Given the description of an element on the screen output the (x, y) to click on. 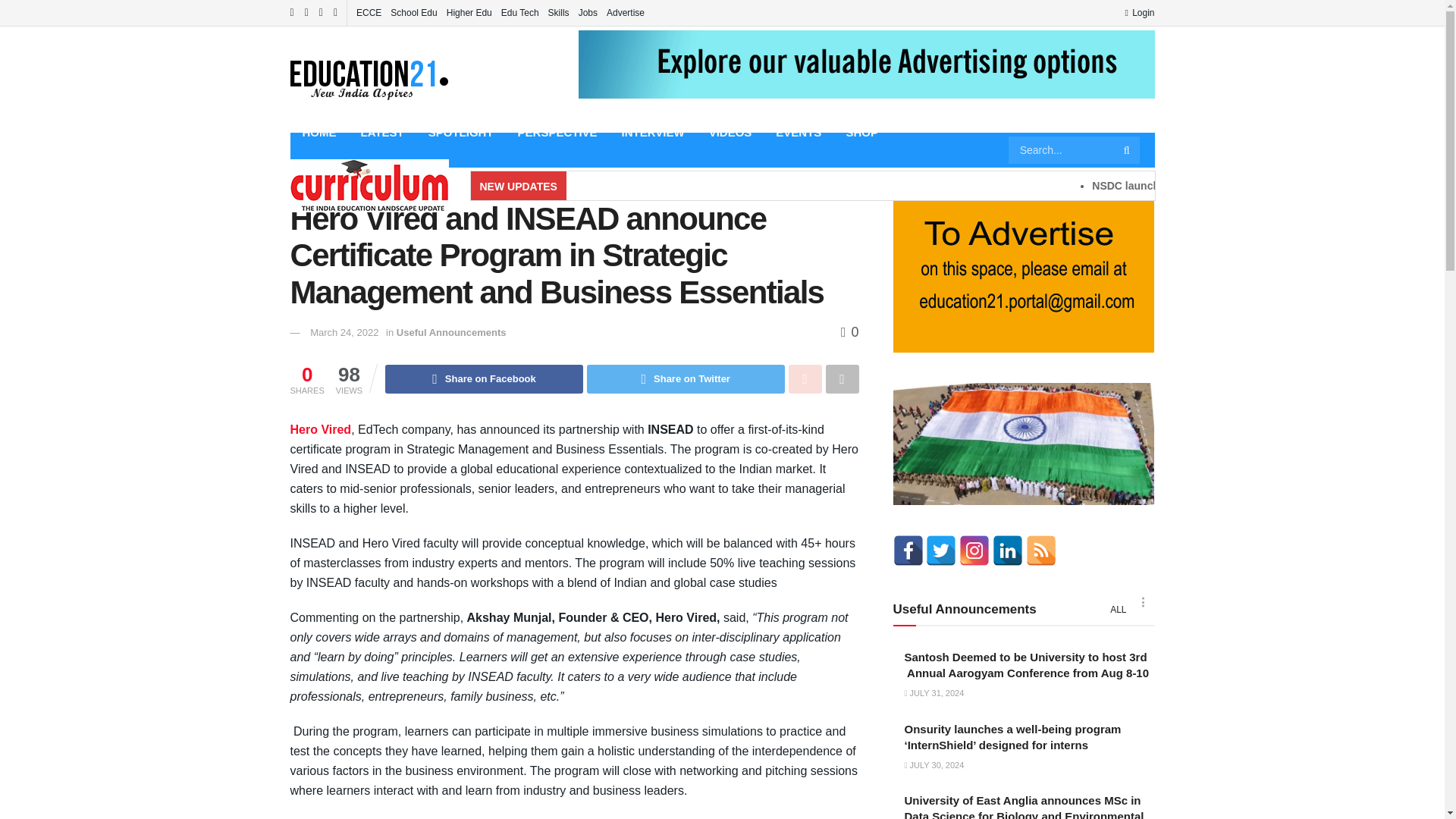
Instagram (974, 550)
School Edu (413, 12)
Twitter (941, 550)
SPOTLIGHT (460, 132)
RSS Feed (1041, 550)
LinkedIn (1007, 550)
HOME (318, 132)
STUDENT KIOSK (348, 167)
EVENTS (797, 132)
Higher Edu (469, 12)
